Given the description of an element on the screen output the (x, y) to click on. 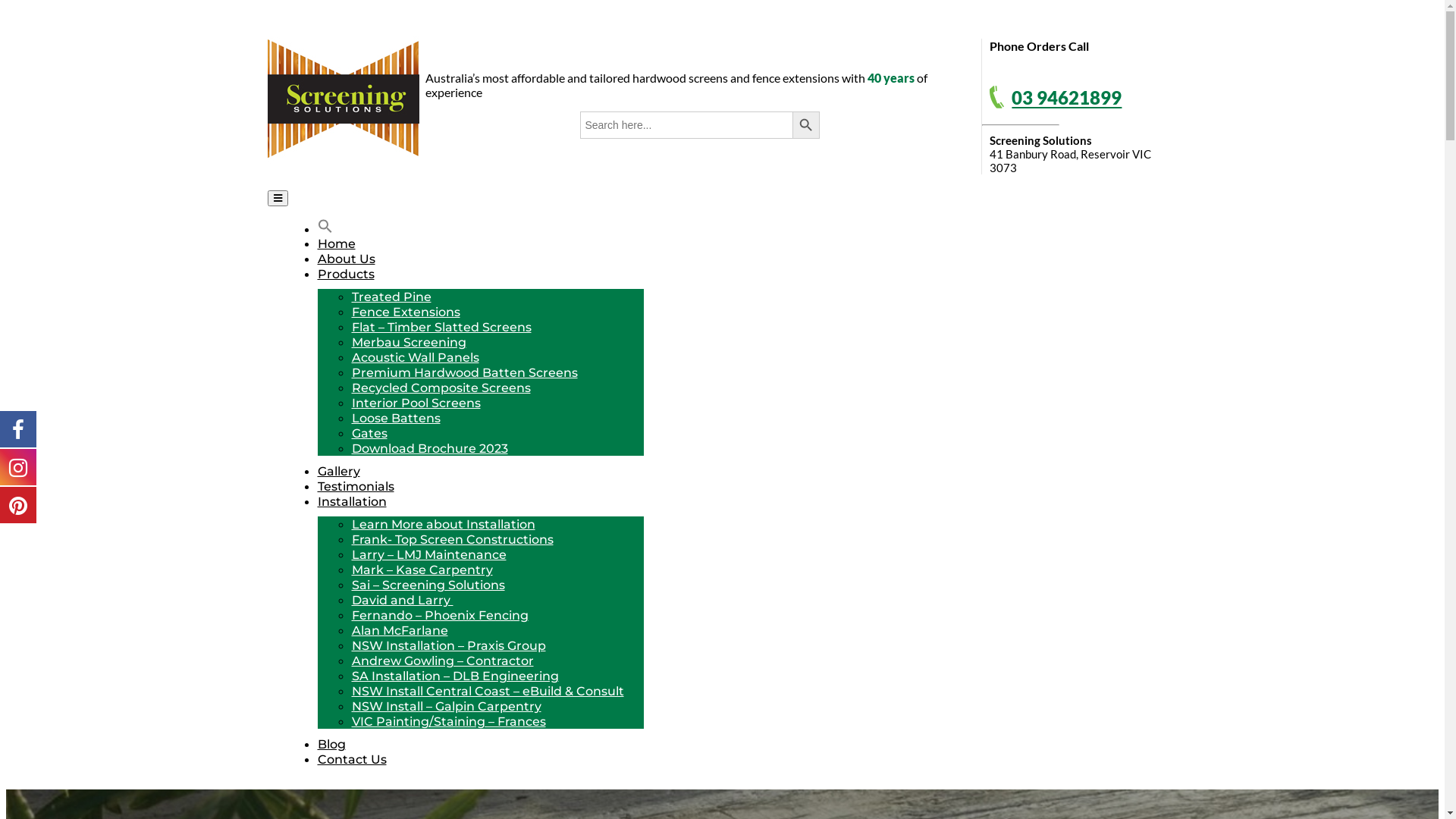
Testimonials Element type: text (354, 486)
David and Larry  Element type: text (402, 600)
Products Element type: text (344, 273)
Download Brochure 2023 Element type: text (429, 448)
Merbau Screening Element type: text (408, 342)
About Us Element type: text (345, 258)
Loose Battens Element type: text (395, 418)
Learn More about Installation Element type: text (443, 524)
Premium Hardwood Batten Screens Element type: text (464, 372)
Alan McFarlane Element type: text (399, 630)
Image Name Element type: hover (996, 96)
Acoustic Wall Panels Element type: text (415, 357)
03 94621899 Element type: text (1066, 98)
Home Element type: text (335, 243)
Treated Pine Element type: text (391, 296)
Recycled Composite Screens Element type: text (440, 387)
Search Button Element type: text (805, 124)
Fence Extensions Element type: text (405, 311)
Installation Element type: text (350, 501)
Gallery Element type: text (337, 471)
Contact Us Element type: text (350, 759)
Blog Element type: text (330, 744)
logo Element type: hover (342, 97)
Gates Element type: text (369, 433)
Interior Pool Screens Element type: text (415, 402)
Frank- Top Screen Constructions Element type: text (452, 539)
